Given the description of an element on the screen output the (x, y) to click on. 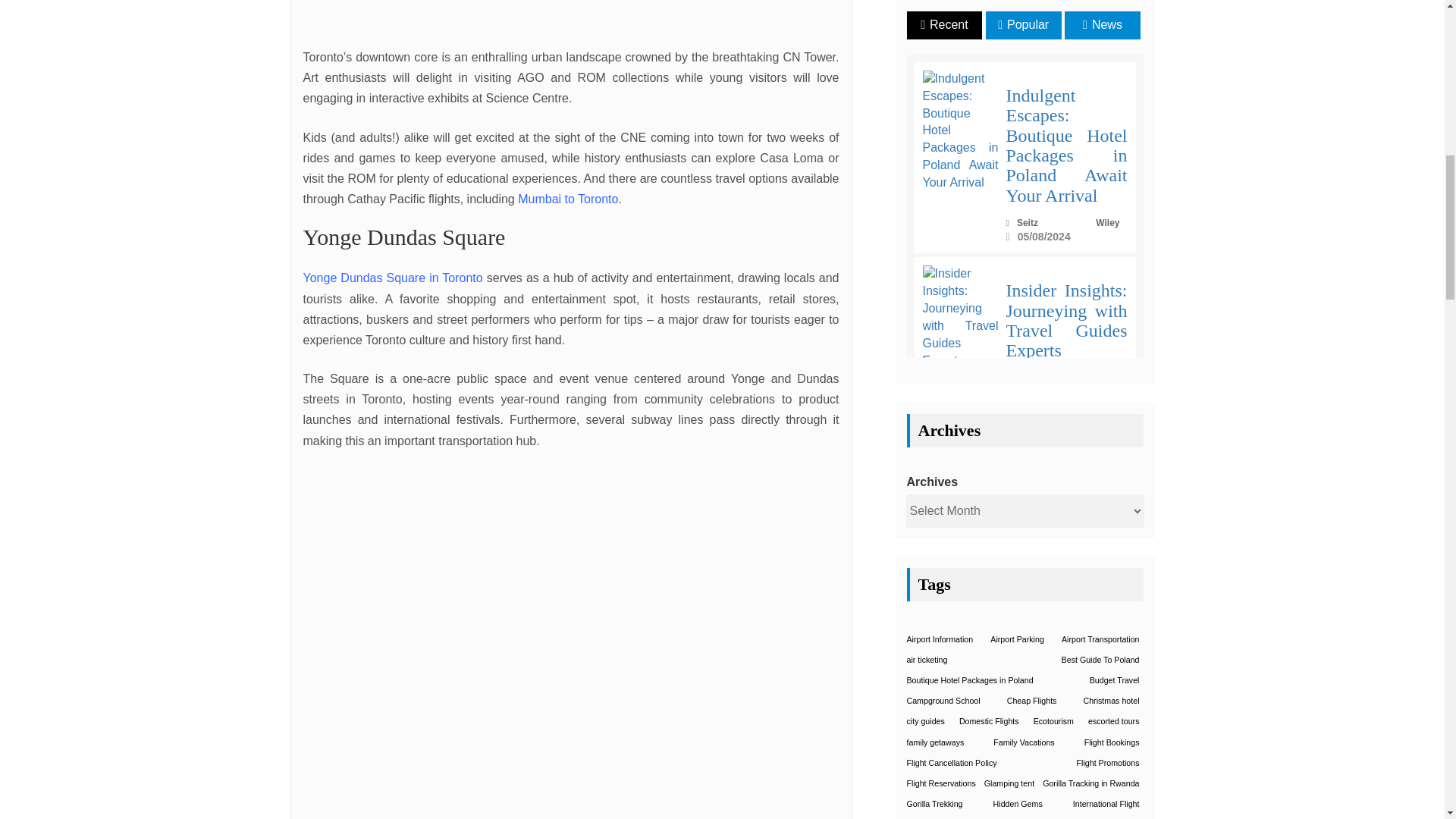
Fantastic Toronto Attractions For International Tourists 1 (571, 14)
Mumbai to Toronto (567, 198)
Yonge Dundas Square in Toronto (392, 277)
